Given the description of an element on the screen output the (x, y) to click on. 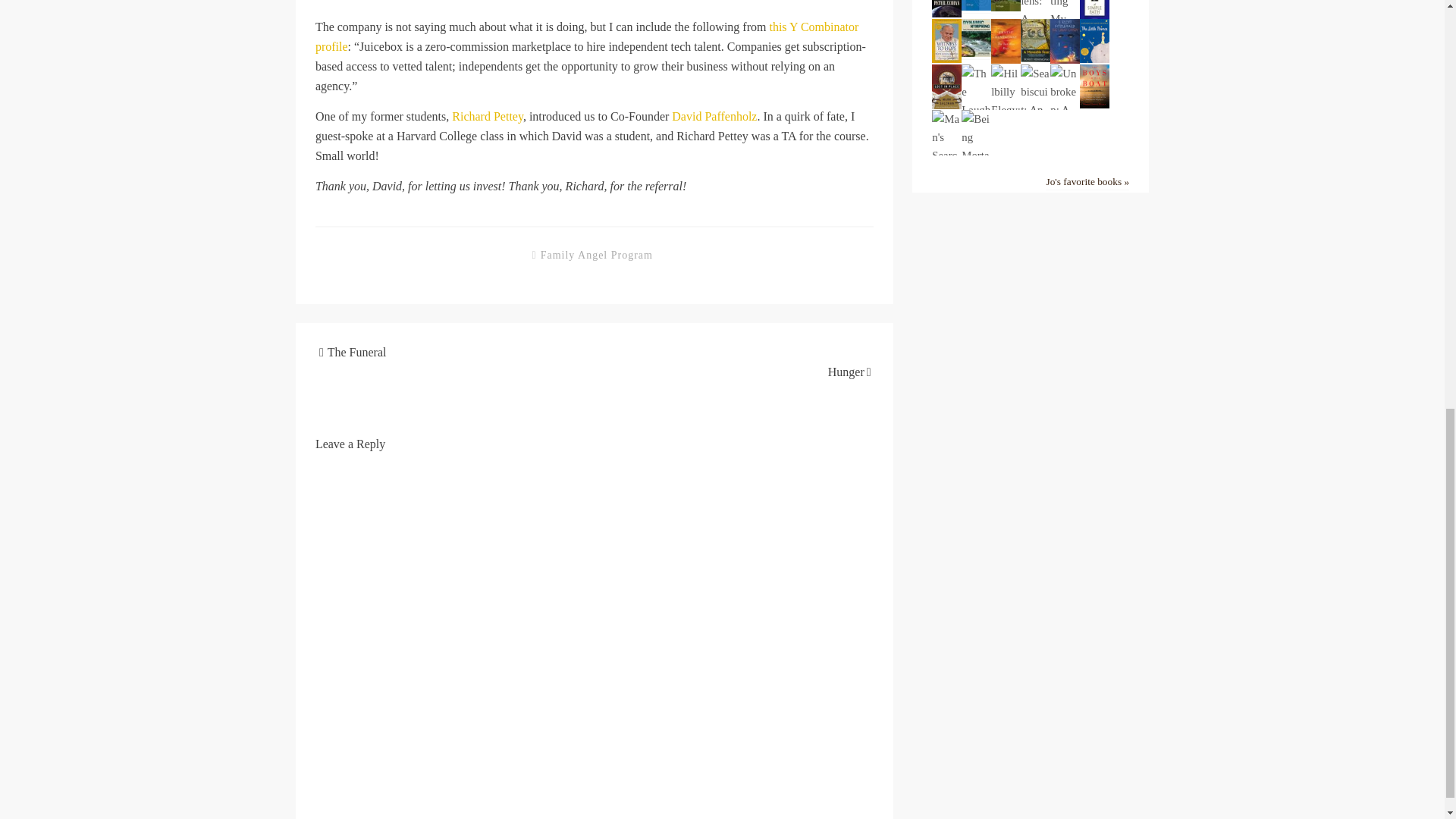
Fishing Small Flies (1005, 7)
Simple Path (1094, 15)
The Sun Also Rises (1005, 60)
The Funeral (357, 351)
Family Angel Program (596, 255)
Hunger (846, 371)
David Paffenholz (714, 115)
this Y Combinator profile (587, 36)
Writing My Wrongs (1064, 55)
Sapiens: A Brief History of Humankind (1034, 110)
Witness to Hope: The Biography of Pope John Paul II (945, 59)
Tying Small Flies (975, 6)
